Given the description of an element on the screen output the (x, y) to click on. 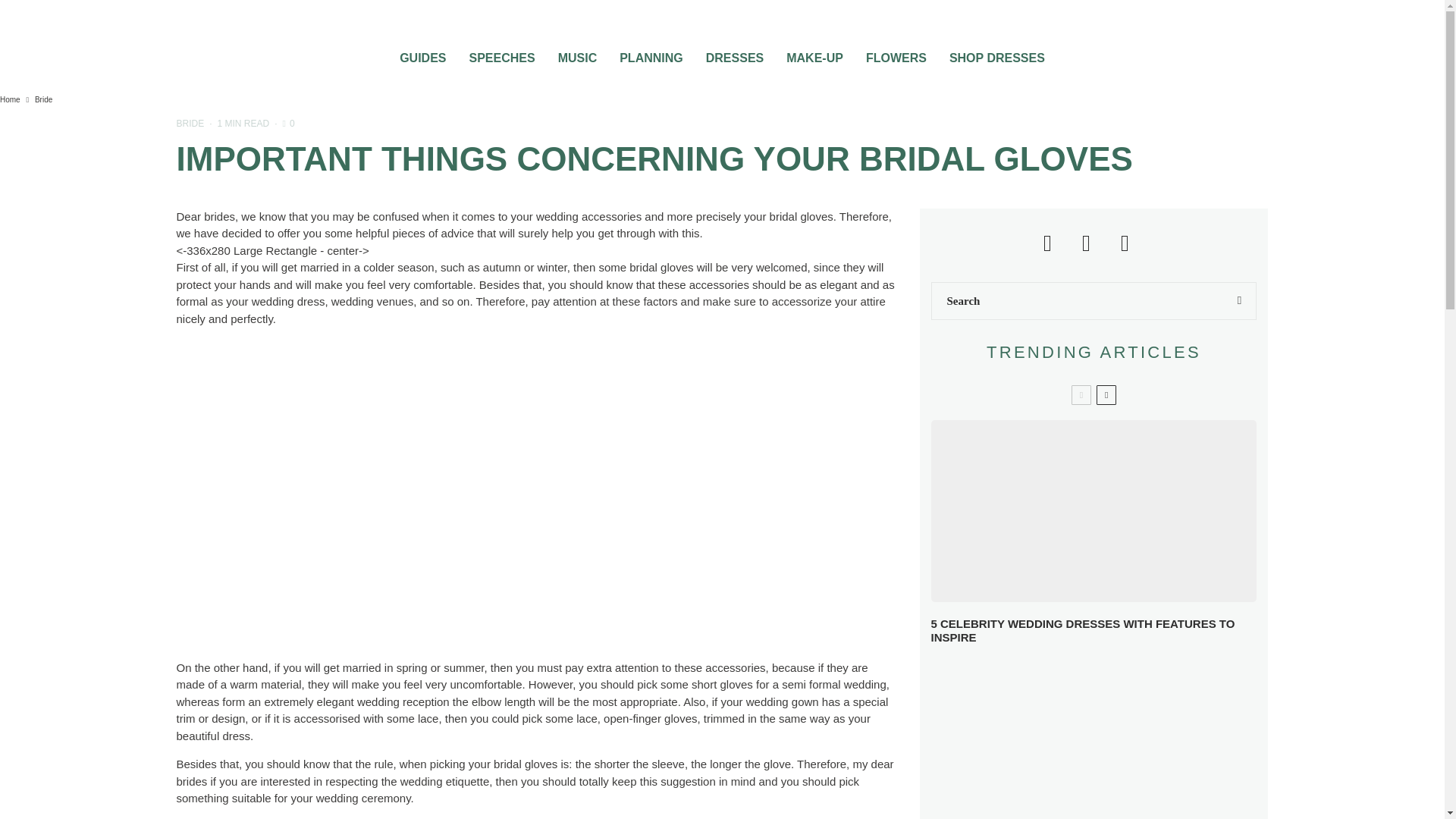
MUSIC (577, 52)
Wedding Planning (651, 52)
GUIDES (422, 52)
PLANNING (651, 52)
SPEECHES (501, 52)
DRESSES (734, 52)
